Given the description of an element on the screen output the (x, y) to click on. 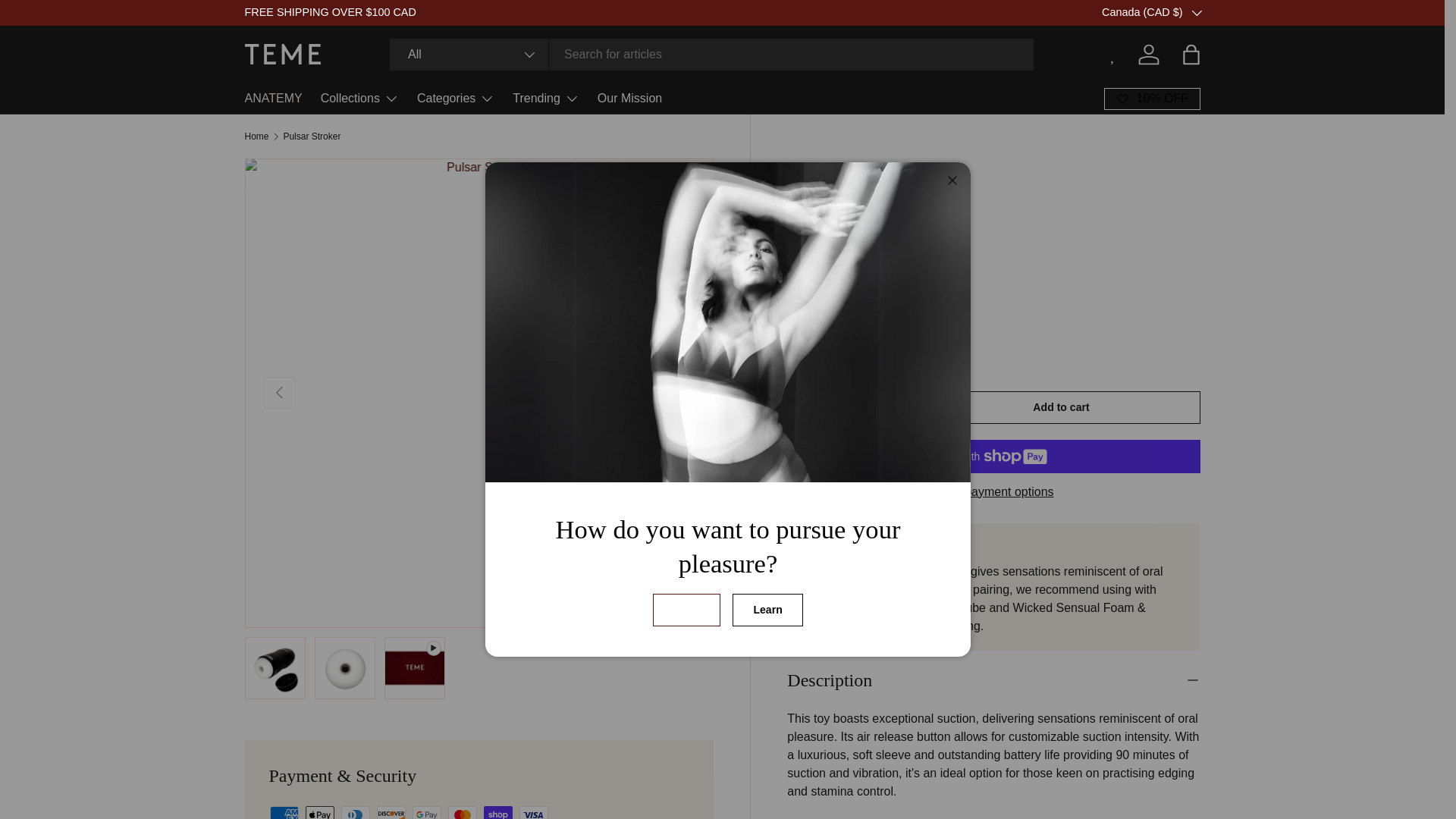
LEARN MORE (1223, 11)
Collections (359, 98)
Categories (455, 98)
Log in (1147, 54)
Bag (1190, 54)
1 (848, 409)
ANATEMY (272, 98)
Trending (545, 98)
All (469, 54)
Duties Credit (1223, 11)
Skip to content (68, 21)
